Given the description of an element on the screen output the (x, y) to click on. 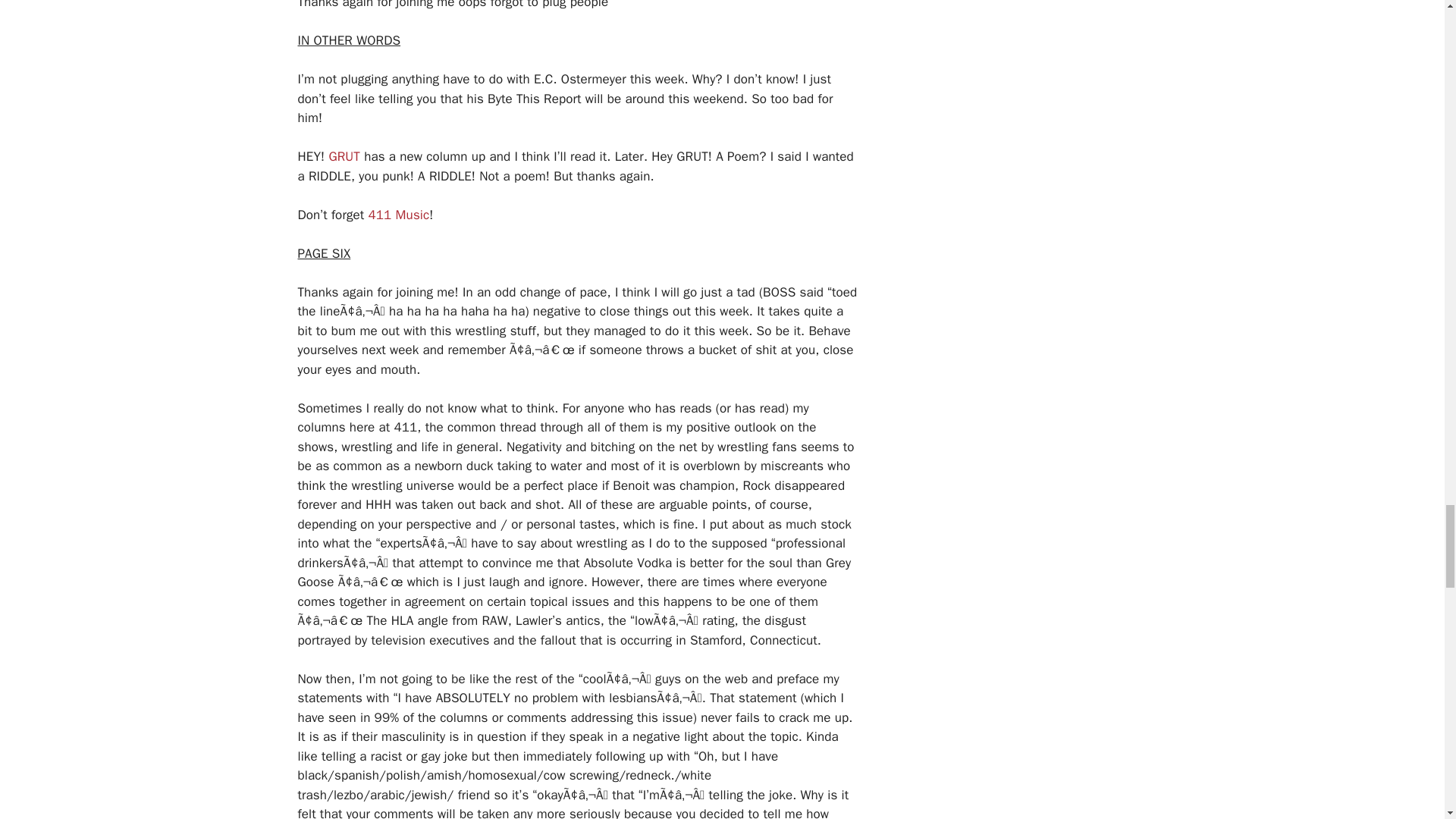
411 Music (398, 213)
GRUT (344, 156)
